Given the description of an element on the screen output the (x, y) to click on. 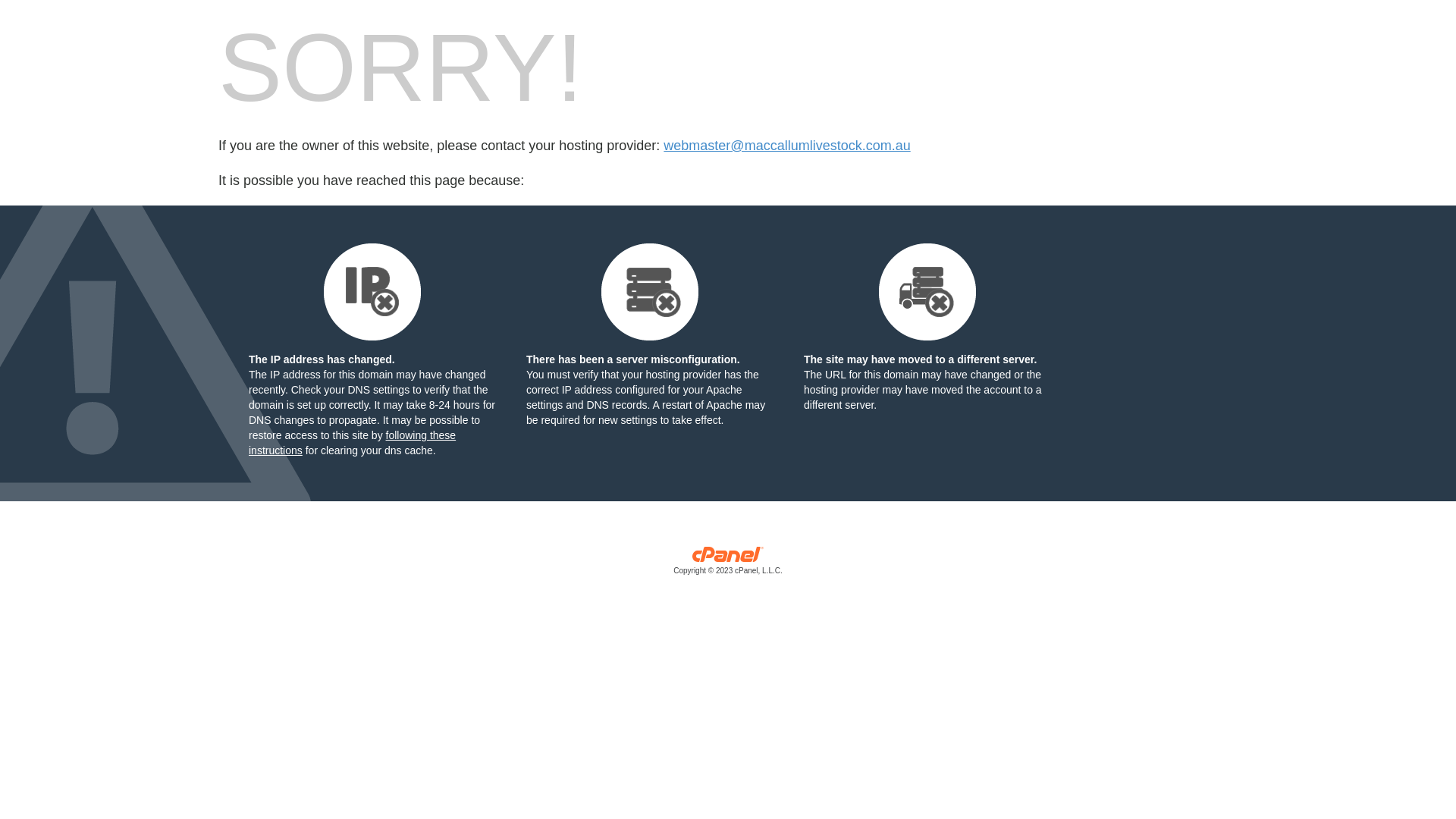
webmaster@maccallumlivestock.com.au Element type: text (786, 145)
following these instructions Element type: text (351, 442)
